Given the description of an element on the screen output the (x, y) to click on. 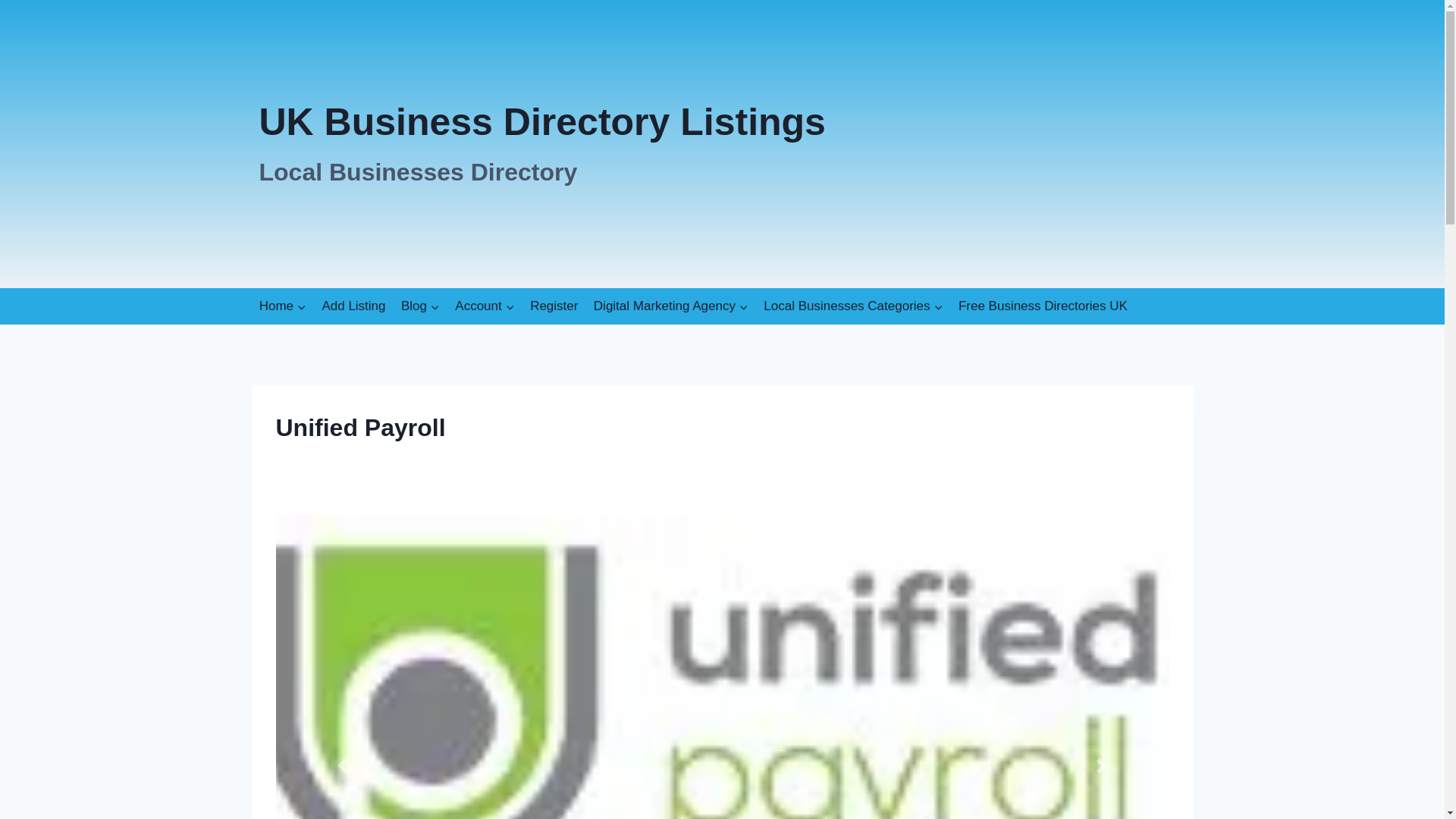
Free Business Directories UK (1042, 306)
Digital Marketing Agency (670, 306)
Account (484, 306)
Local Businesses Categories (852, 306)
Add Listing (353, 306)
Register (554, 306)
Home (542, 144)
Blog (282, 306)
